Given the description of an element on the screen output the (x, y) to click on. 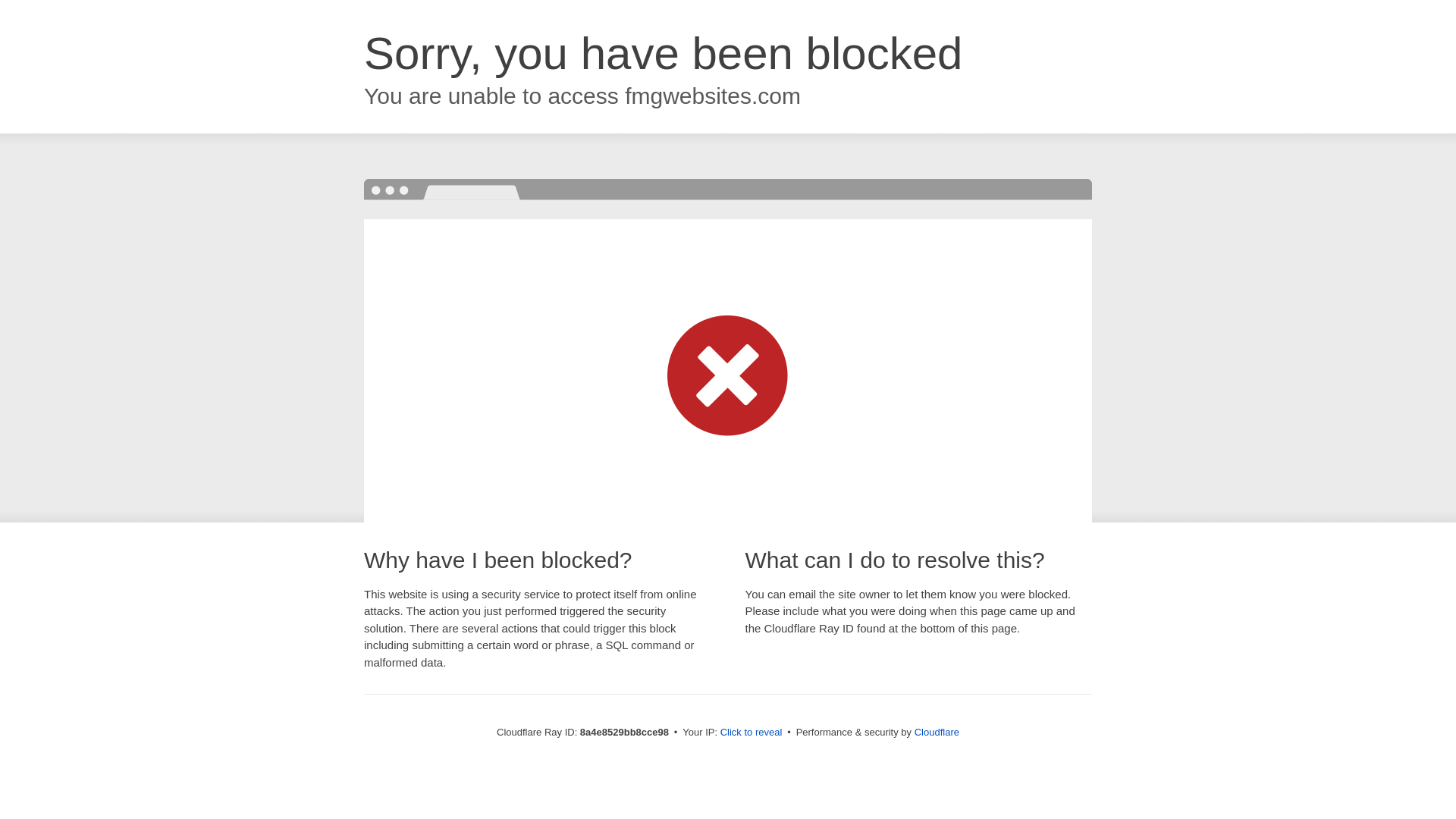
Cloudflare (936, 731)
Click to reveal (751, 732)
